Given the description of an element on the screen output the (x, y) to click on. 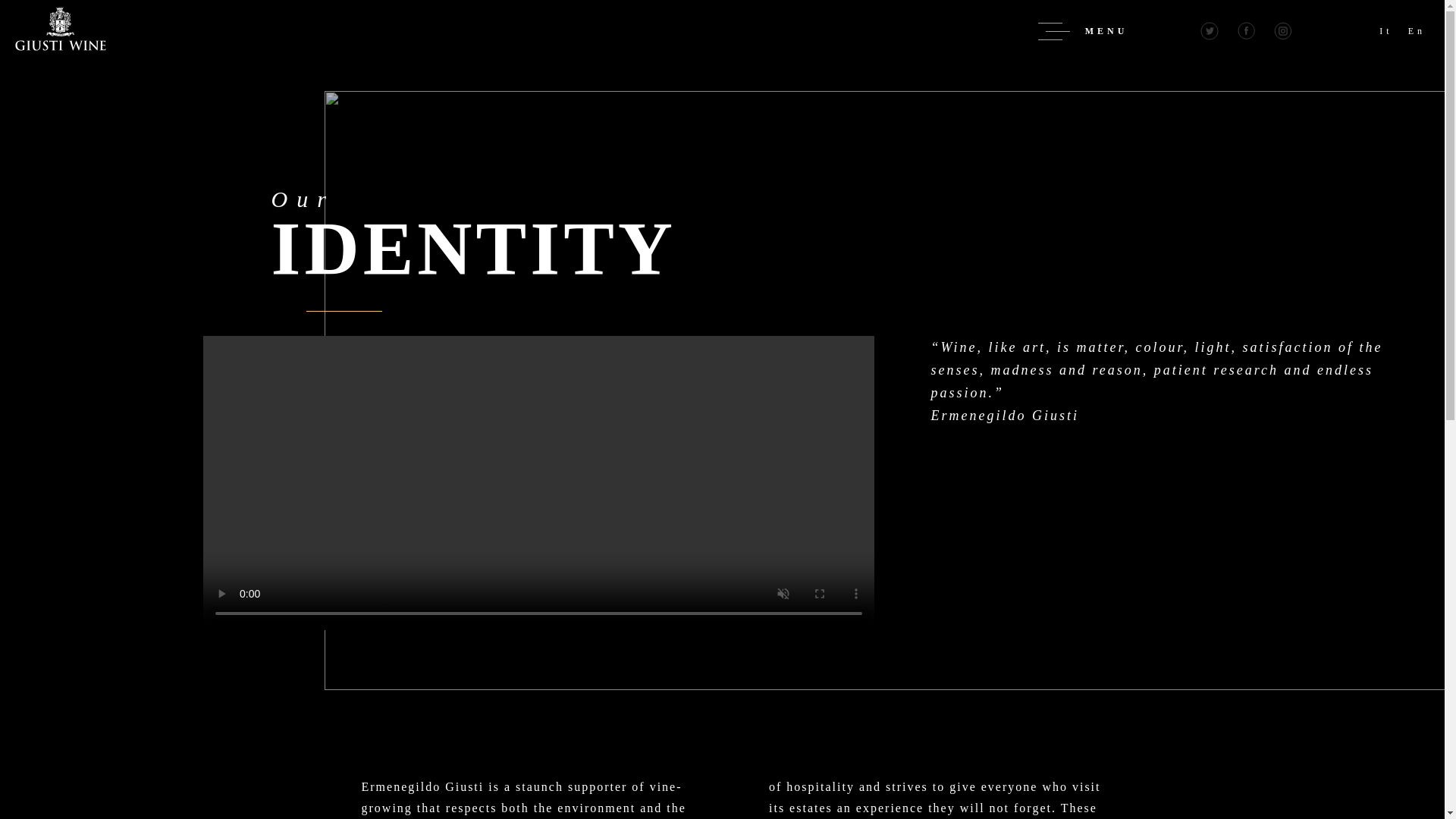
MENU (1082, 31)
En (1416, 30)
It (1384, 30)
